Given the description of an element on the screen output the (x, y) to click on. 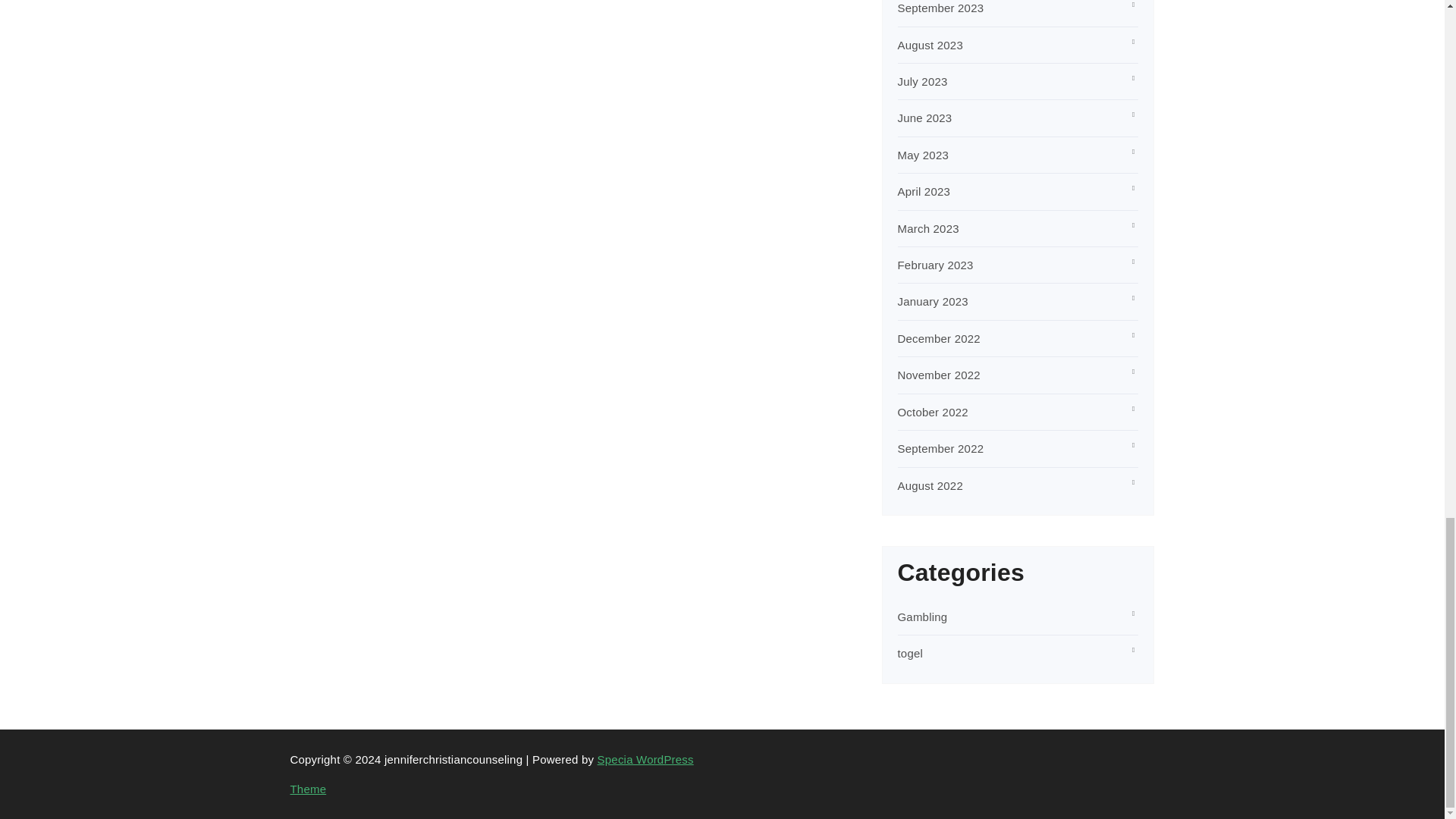
April 2023 (924, 191)
July 2023 (922, 81)
August 2023 (930, 44)
September 2023 (941, 7)
June 2023 (925, 117)
May 2023 (923, 154)
